Given the description of an element on the screen output the (x, y) to click on. 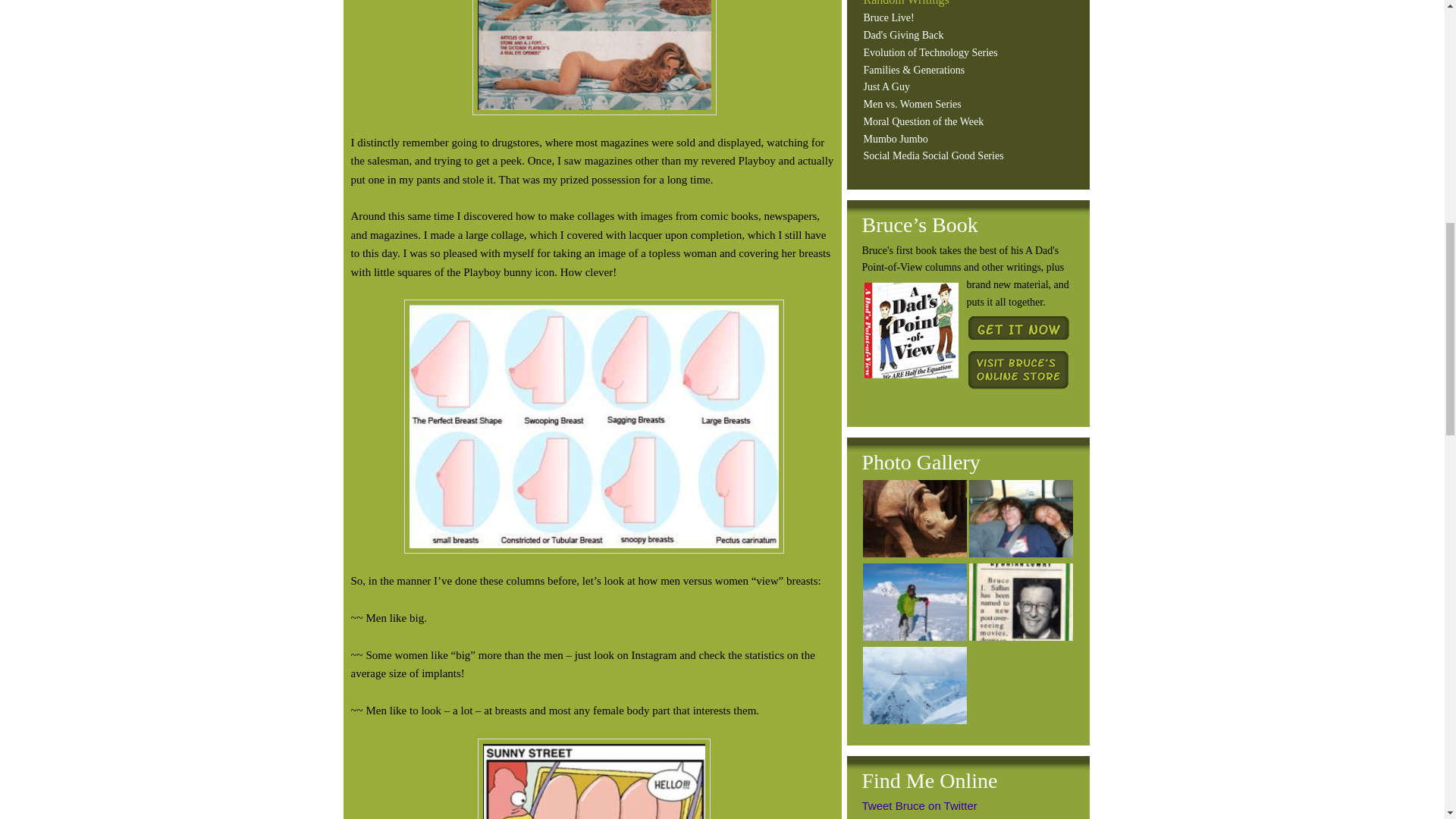
Heli-skiing in The Adamants, 2008 (914, 605)
Outside Land Music Festival (1021, 521)
